Given the description of an element on the screen output the (x, y) to click on. 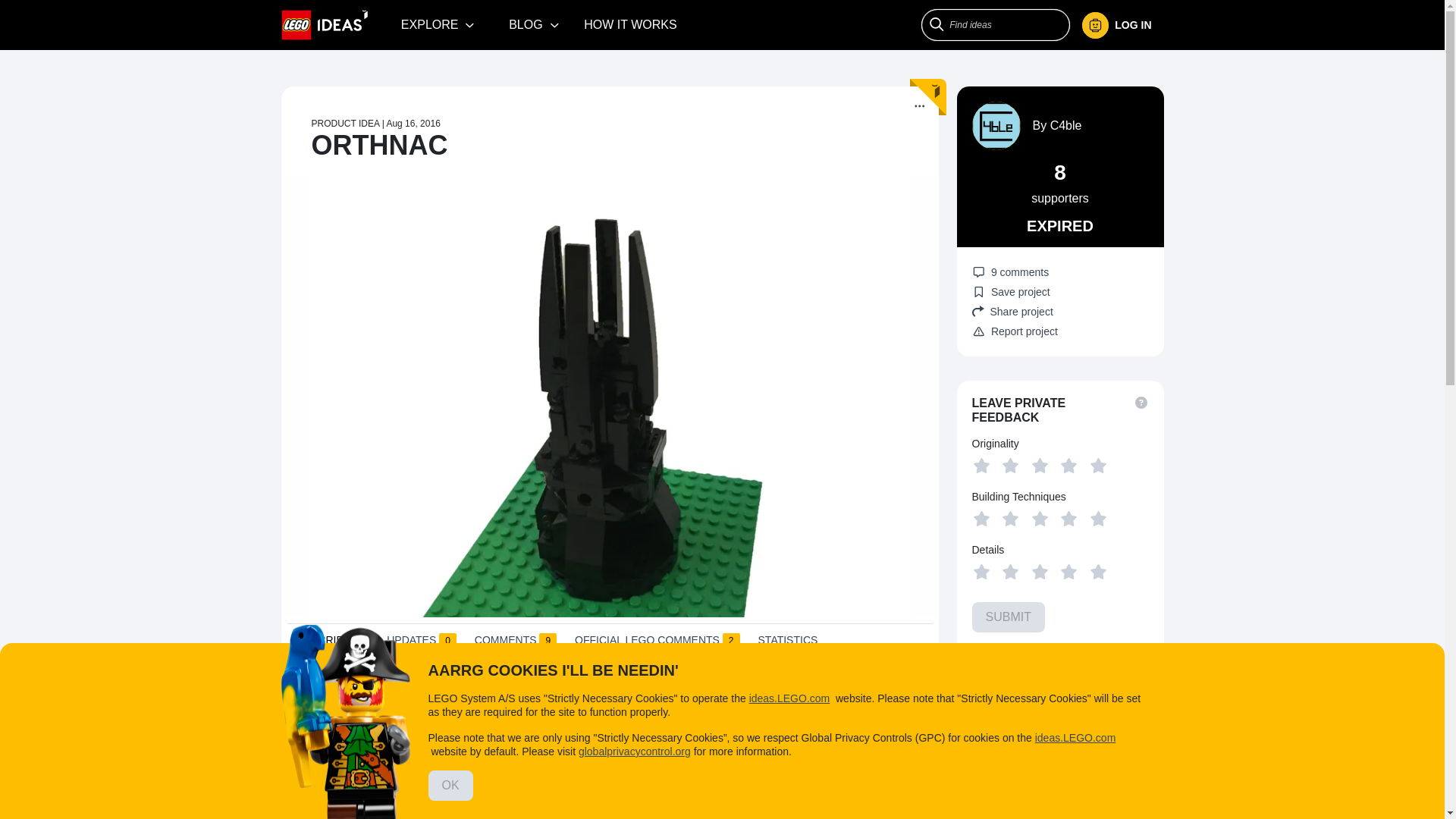
COMMENTS 9 (515, 643)
How It Works (630, 24)
UPDATES 0 (422, 643)
Save project (1010, 291)
EXPLORE (437, 24)
DESCRIPTION (331, 644)
Me (1116, 25)
OFFICIAL LEGO COMMENTS 2 (657, 643)
